Given the description of an element on the screen output the (x, y) to click on. 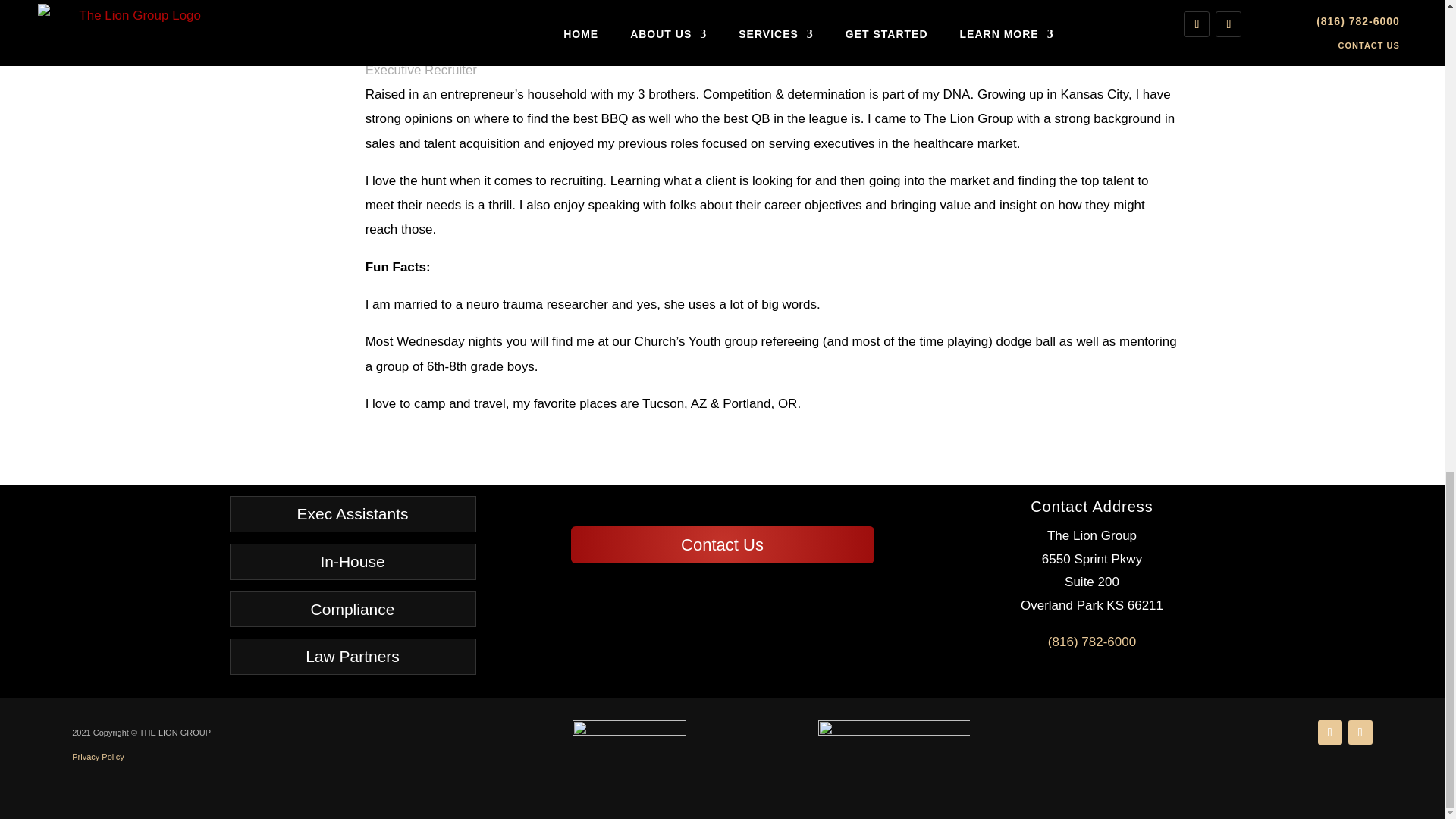
Compliance (352, 609)
Follow on Facebook (1360, 732)
SRA-Mark-600-Transparent-300x148white (893, 753)
Contact Us (721, 544)
Follow on LinkedIn (1329, 732)
Privacy Policy (97, 756)
Exec Assistants (352, 514)
Law Partners (352, 656)
In-House (352, 561)
